Given the description of an element on the screen output the (x, y) to click on. 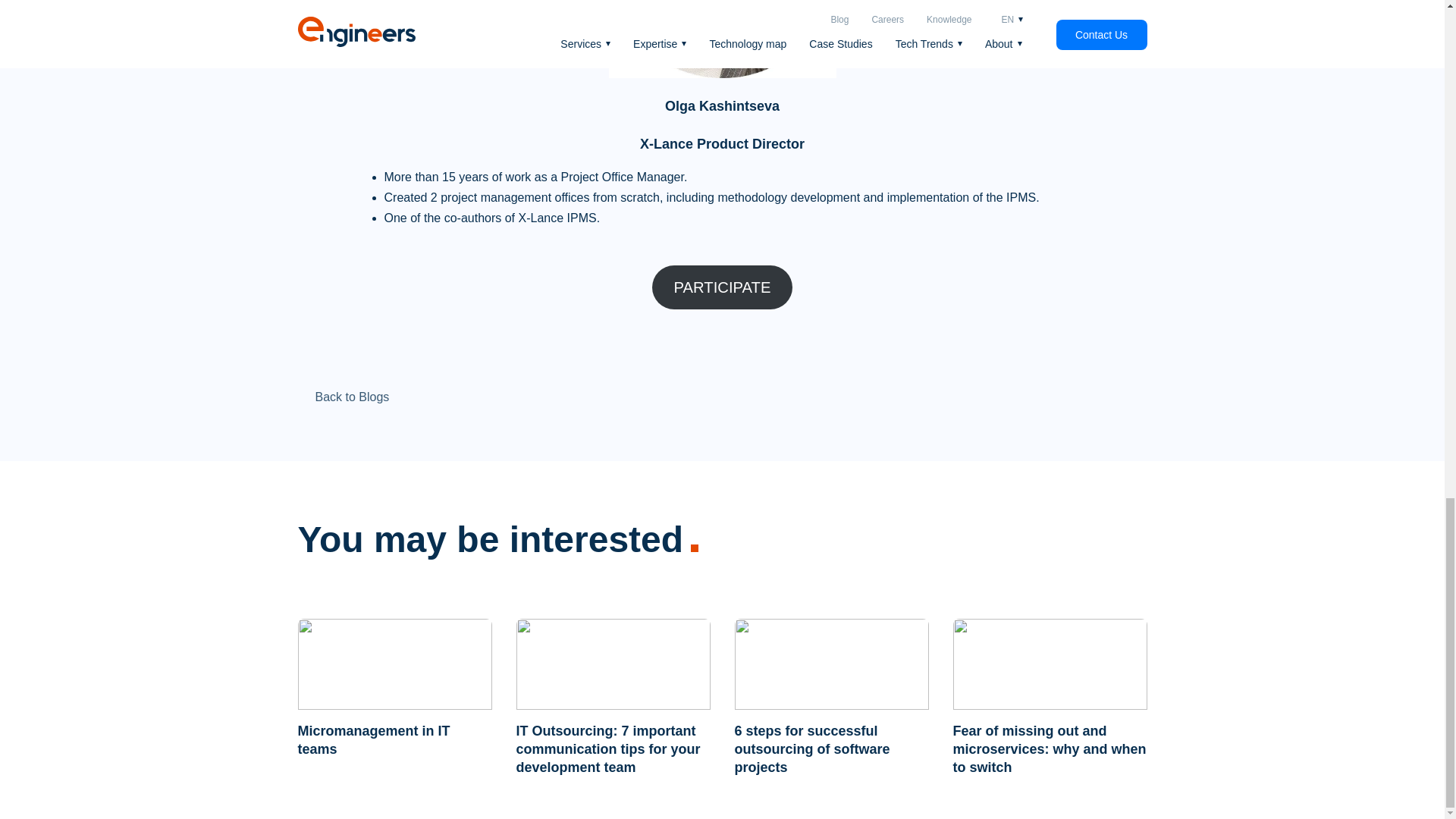
PARTICIPATE (722, 287)
Micromanagement in IT teams (373, 739)
Back to Blogs (342, 397)
